Given the description of an element on the screen output the (x, y) to click on. 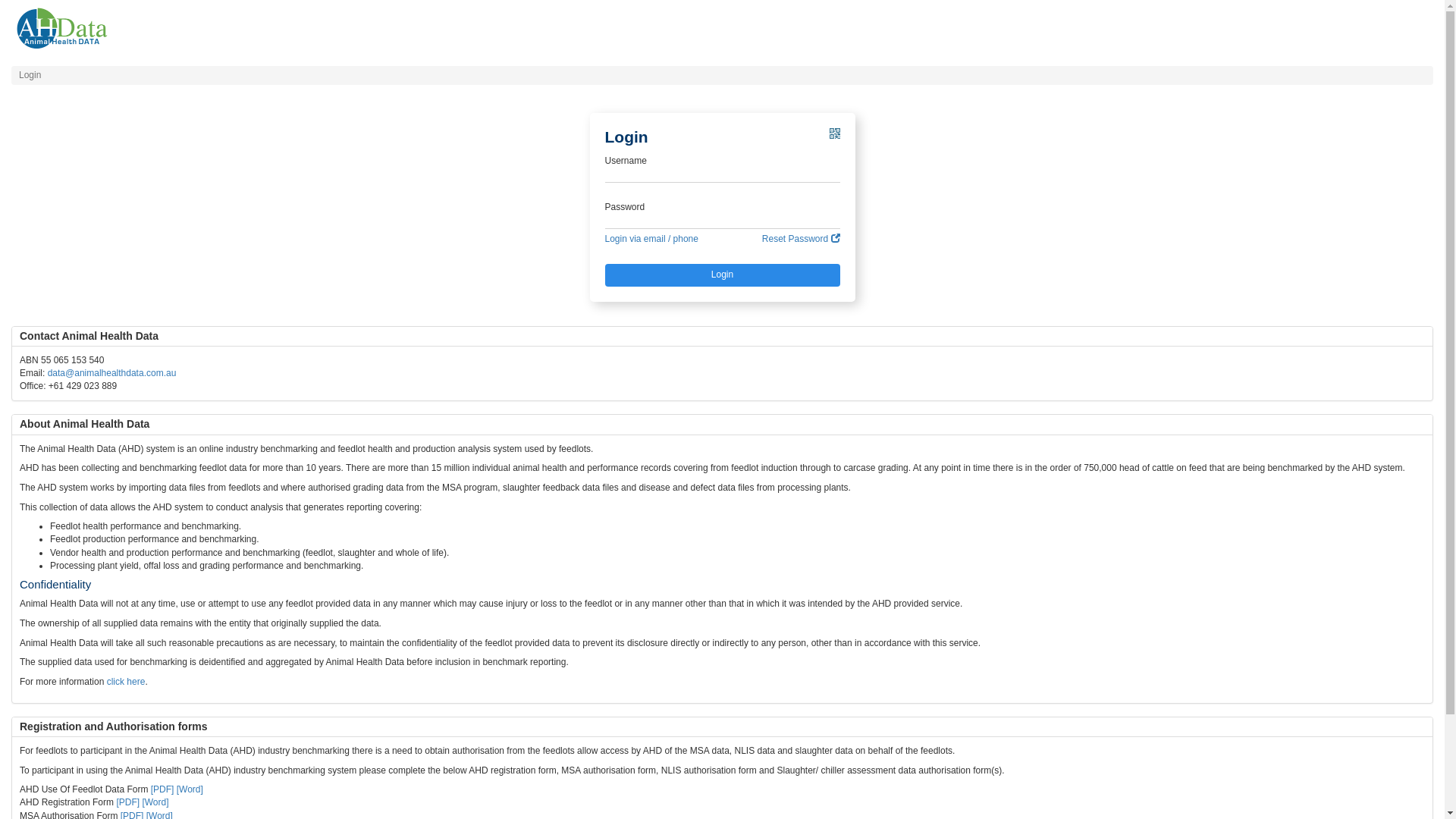
Login Element type: text (722, 274)
click here Element type: text (125, 681)
Login via email / phone Element type: text (651, 238)
Login via AHD App Element type: hover (834, 137)
[Word] Element type: text (154, 802)
Reset Password Element type: text (801, 238)
[PDF] Element type: text (127, 802)
[Word] Element type: text (189, 789)
[PDF] Element type: text (162, 789)
data@animalhealthdata.com.au Element type: text (111, 372)
